Given the description of an element on the screen output the (x, y) to click on. 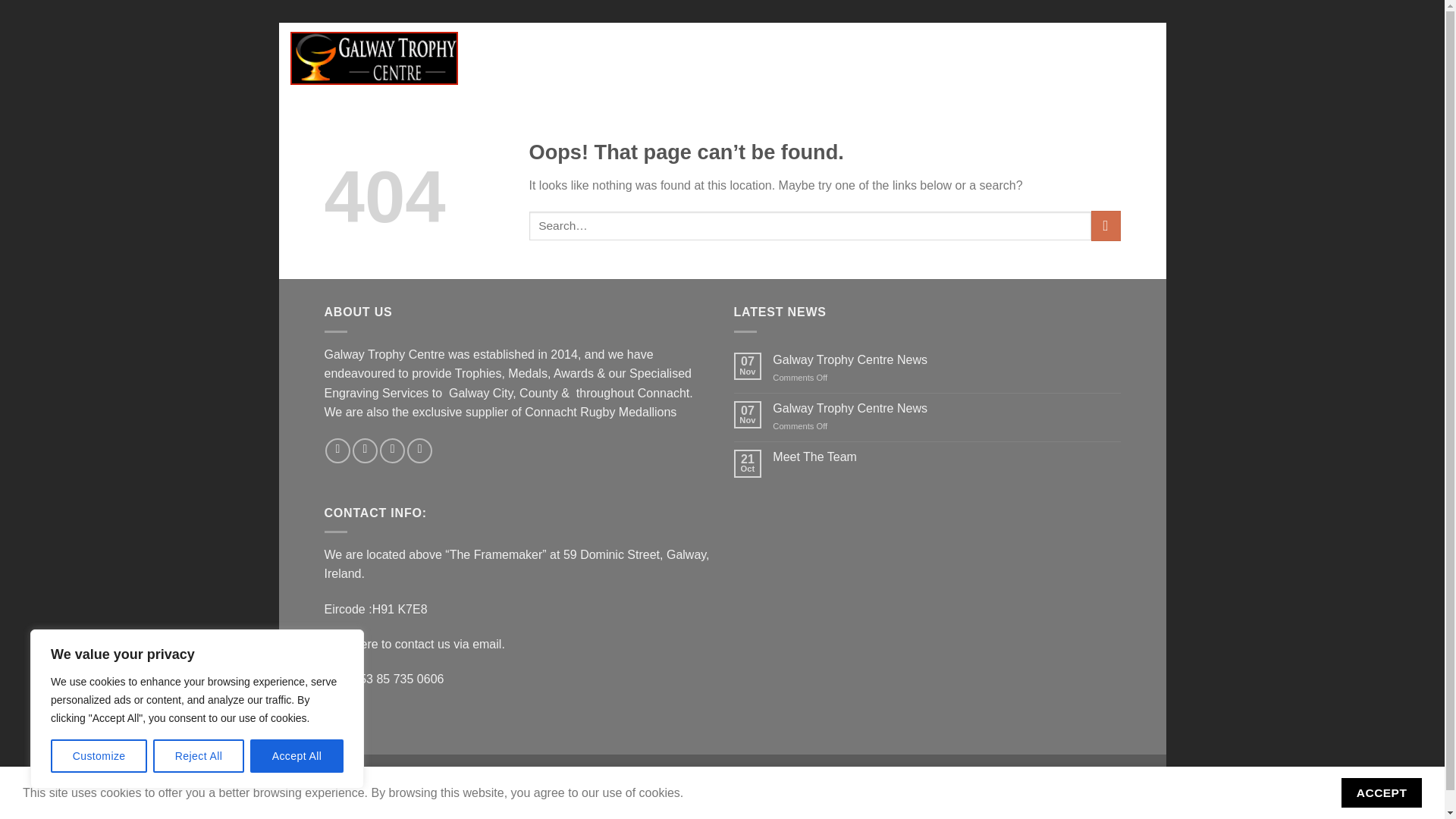
Customize (98, 756)
Follow on Facebook (337, 450)
HOME (508, 57)
FACEBOOK GALLERY (674, 57)
Click here to contact us via email. (414, 644)
Send us an email (392, 450)
Call us (419, 450)
SERVICES (783, 57)
Accept All (296, 756)
